Given the description of an element on the screen output the (x, y) to click on. 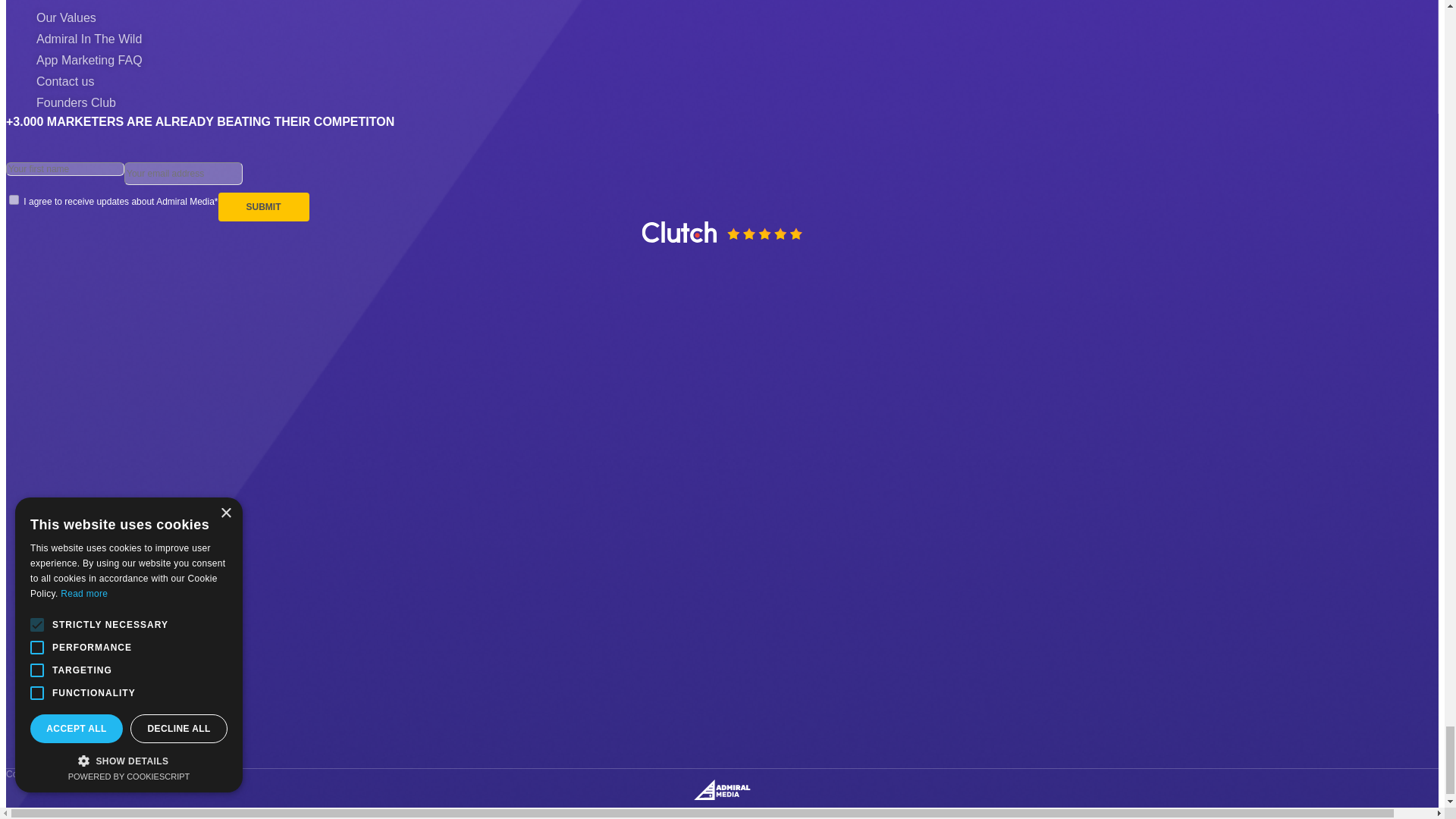
1 (13, 199)
submit (263, 206)
